Given the description of an element on the screen output the (x, y) to click on. 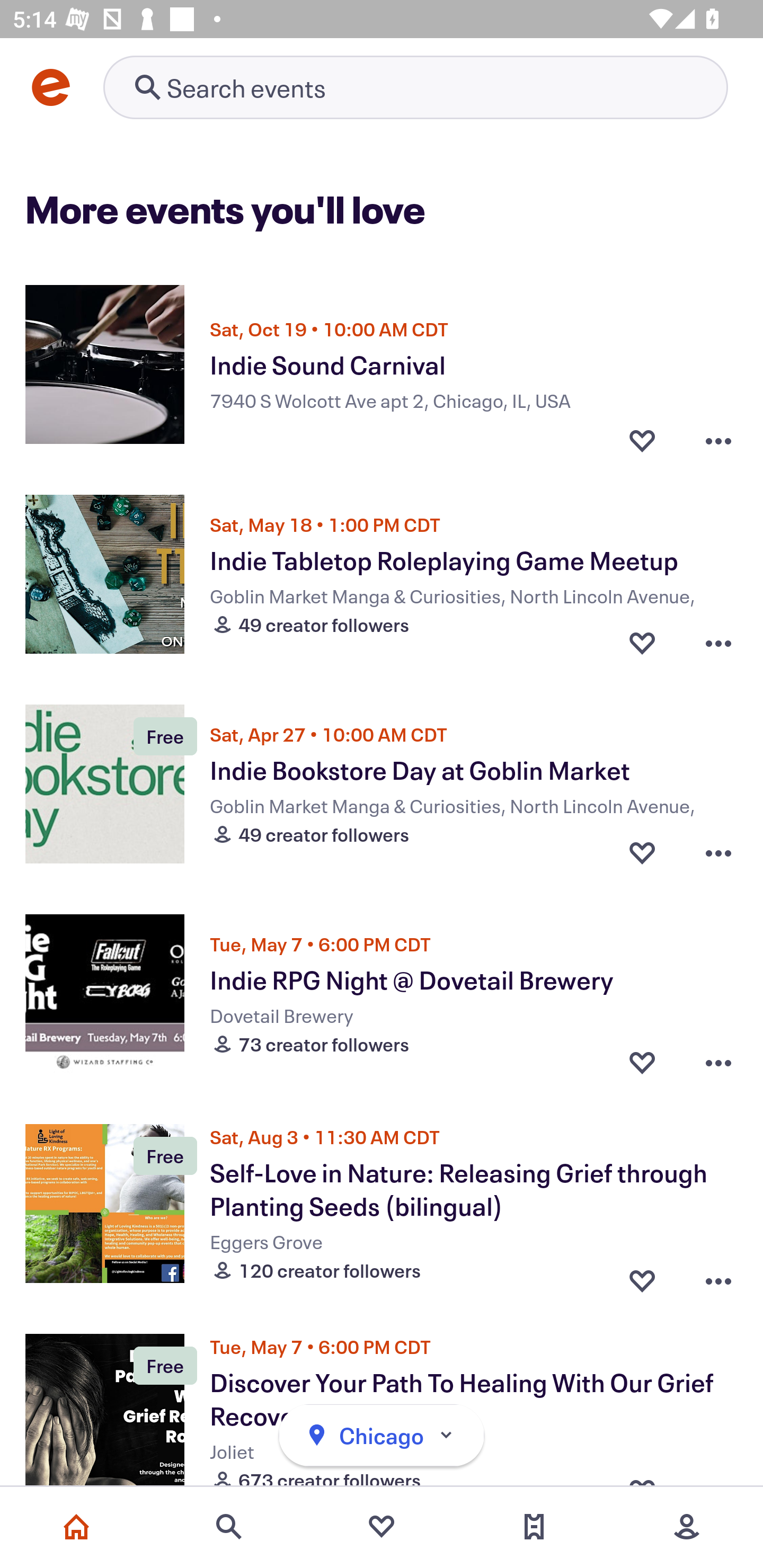
Retry's image Search events (415, 86)
Favorite button (642, 435)
Overflow menu button (718, 435)
Favorite button (642, 641)
Overflow menu button (718, 641)
Favorite button (642, 852)
Overflow menu button (718, 852)
Favorite button (642, 1062)
Overflow menu button (718, 1062)
Favorite button (642, 1275)
Overflow menu button (718, 1275)
Chicago (381, 1435)
Home (76, 1526)
Search events (228, 1526)
Favorites (381, 1526)
Tickets (533, 1526)
More (686, 1526)
